Given the description of an element on the screen output the (x, y) to click on. 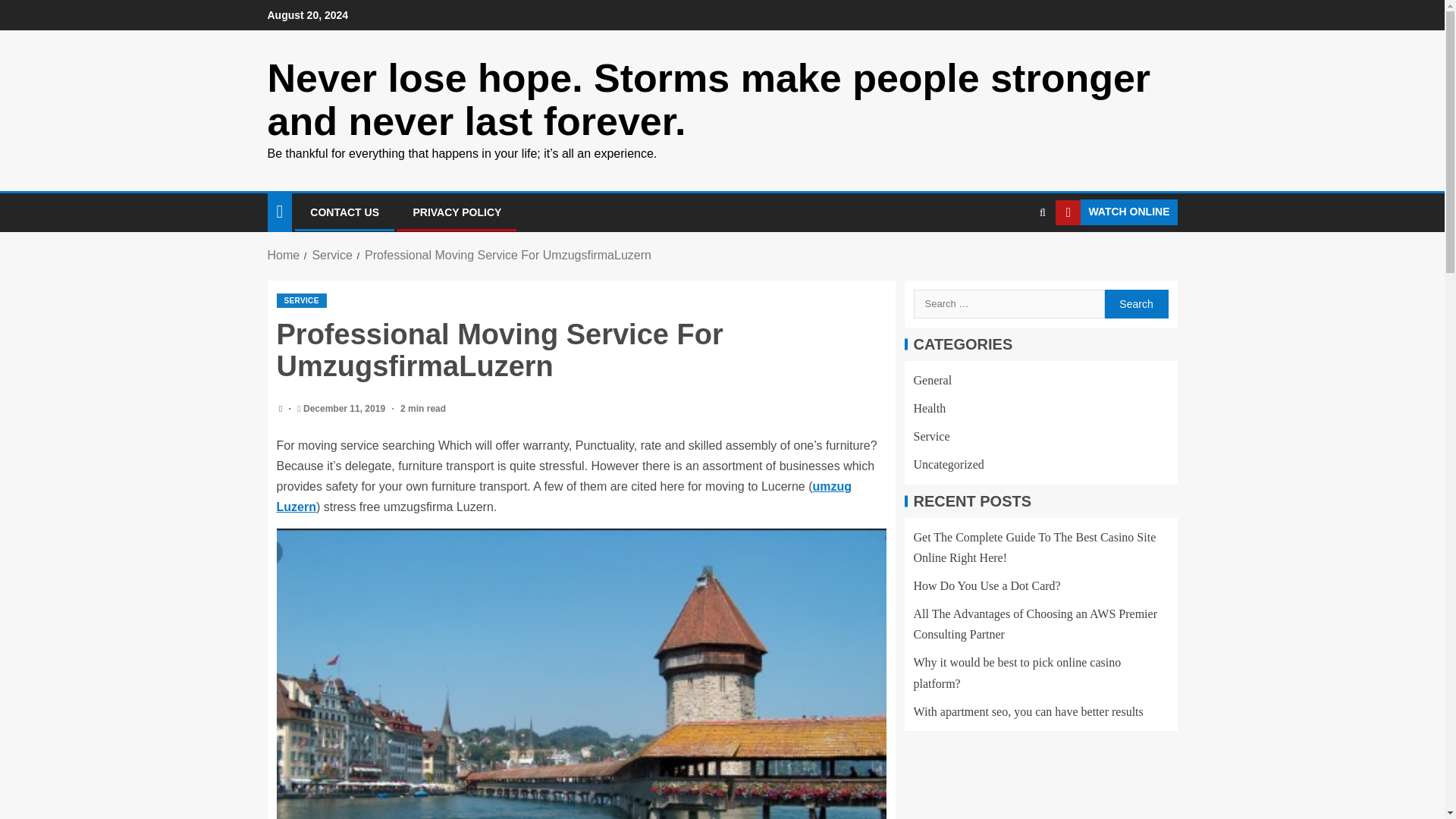
Search (1135, 303)
umzug Luzern (563, 496)
Health (928, 408)
WATCH ONLINE (1115, 212)
Why it would be best to pick online casino platform? (1016, 672)
CONTACT US (344, 212)
How Do You Use a Dot Card? (985, 585)
